Given the description of an element on the screen output the (x, y) to click on. 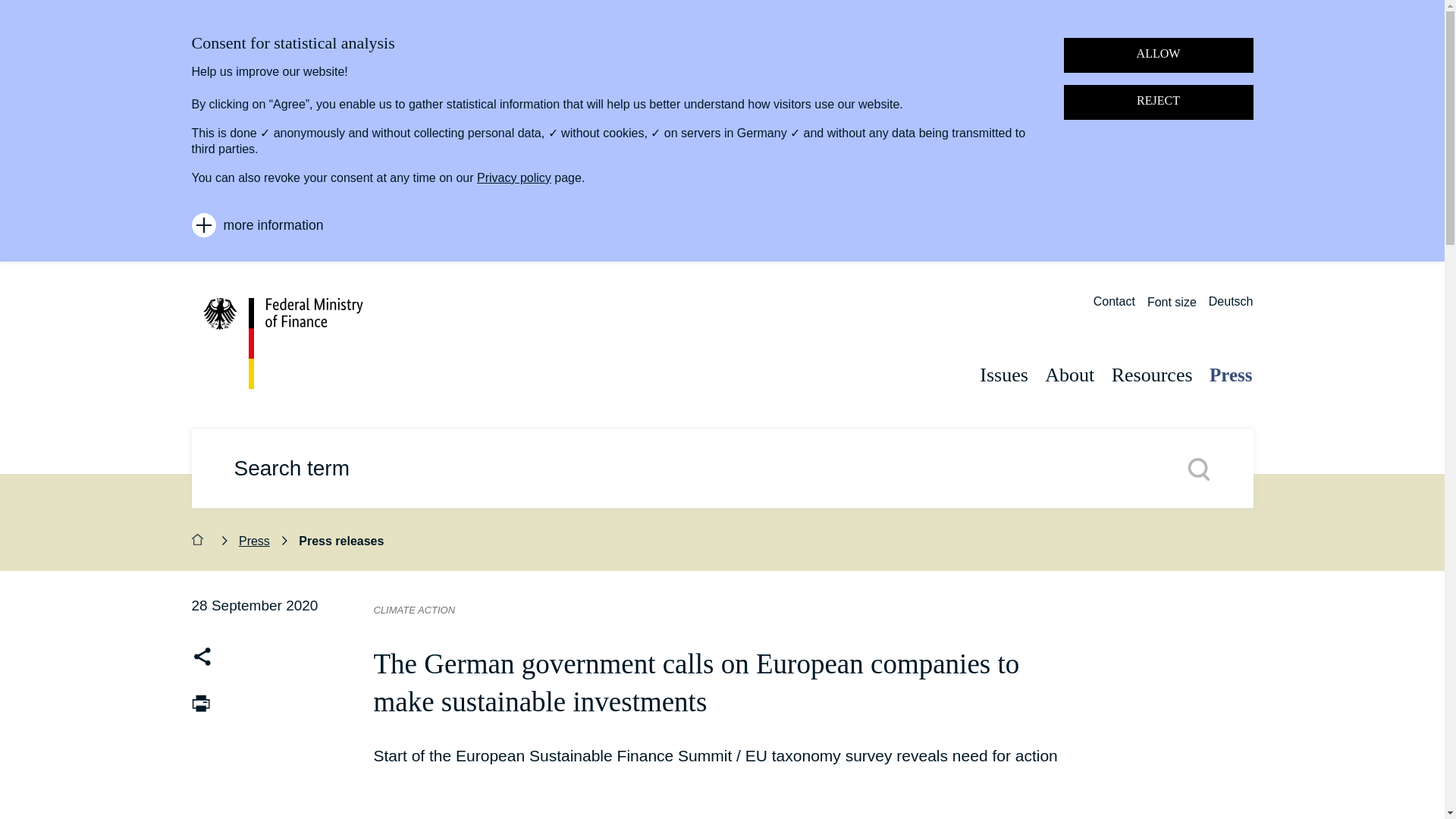
to homepage (298, 343)
Privacy policy (514, 177)
REJECT (1157, 102)
Deutsch (1230, 307)
ALLOW (1157, 54)
Issues (997, 363)
Contact (1114, 307)
Suche (1198, 468)
Contact (1114, 307)
Zum deutschen Auftritt (1230, 307)
